Given the description of an element on the screen output the (x, y) to click on. 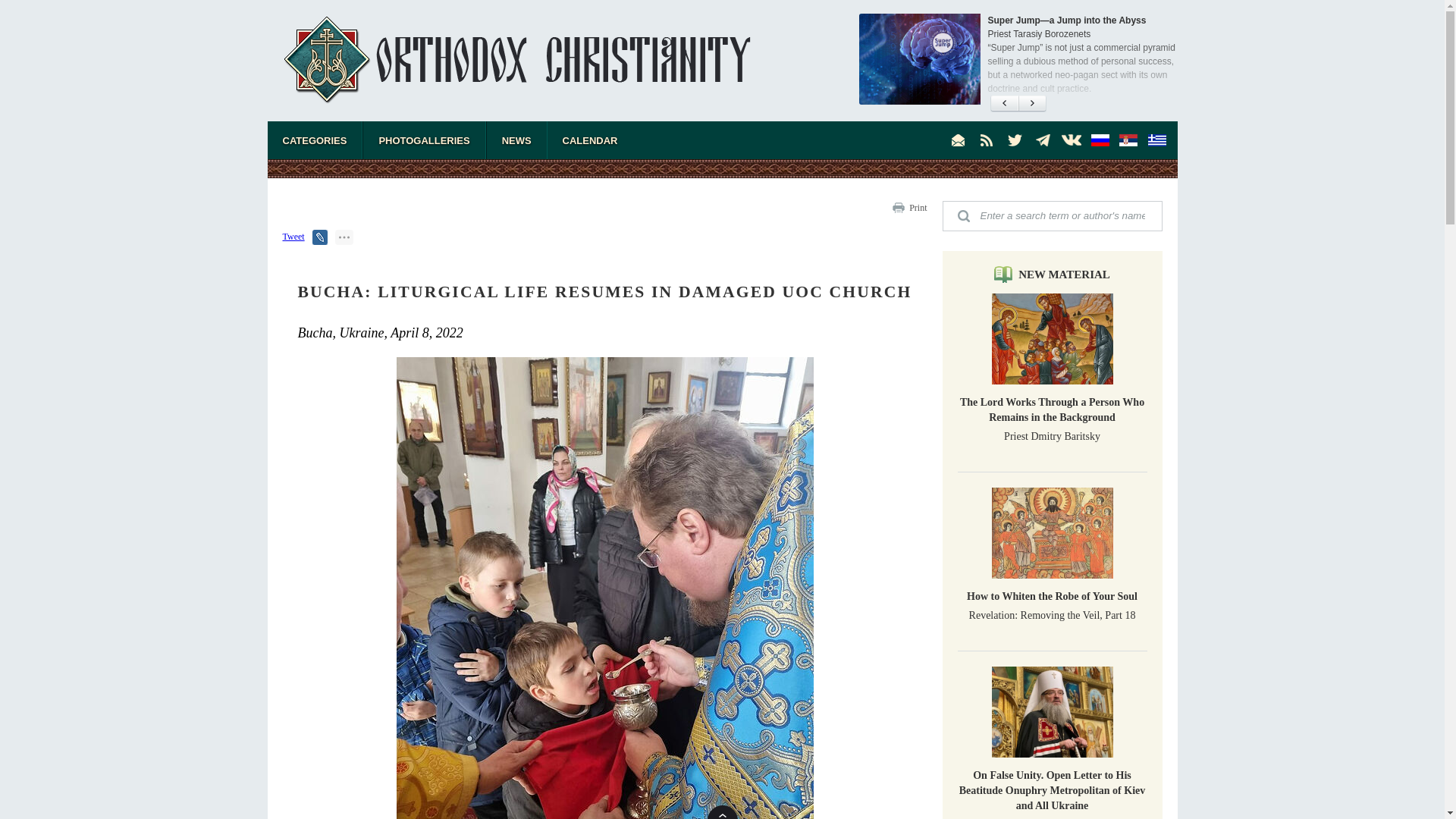
Print (917, 207)
RSS (986, 139)
Telegram (1043, 139)
NEWS (516, 139)
CALENDAR (590, 139)
PHOTOGALLERIES (423, 139)
VKontakte (1071, 139)
Twitter (1015, 139)
Sign up for our mailing list (958, 139)
Greek (1155, 139)
